Given the description of an element on the screen output the (x, y) to click on. 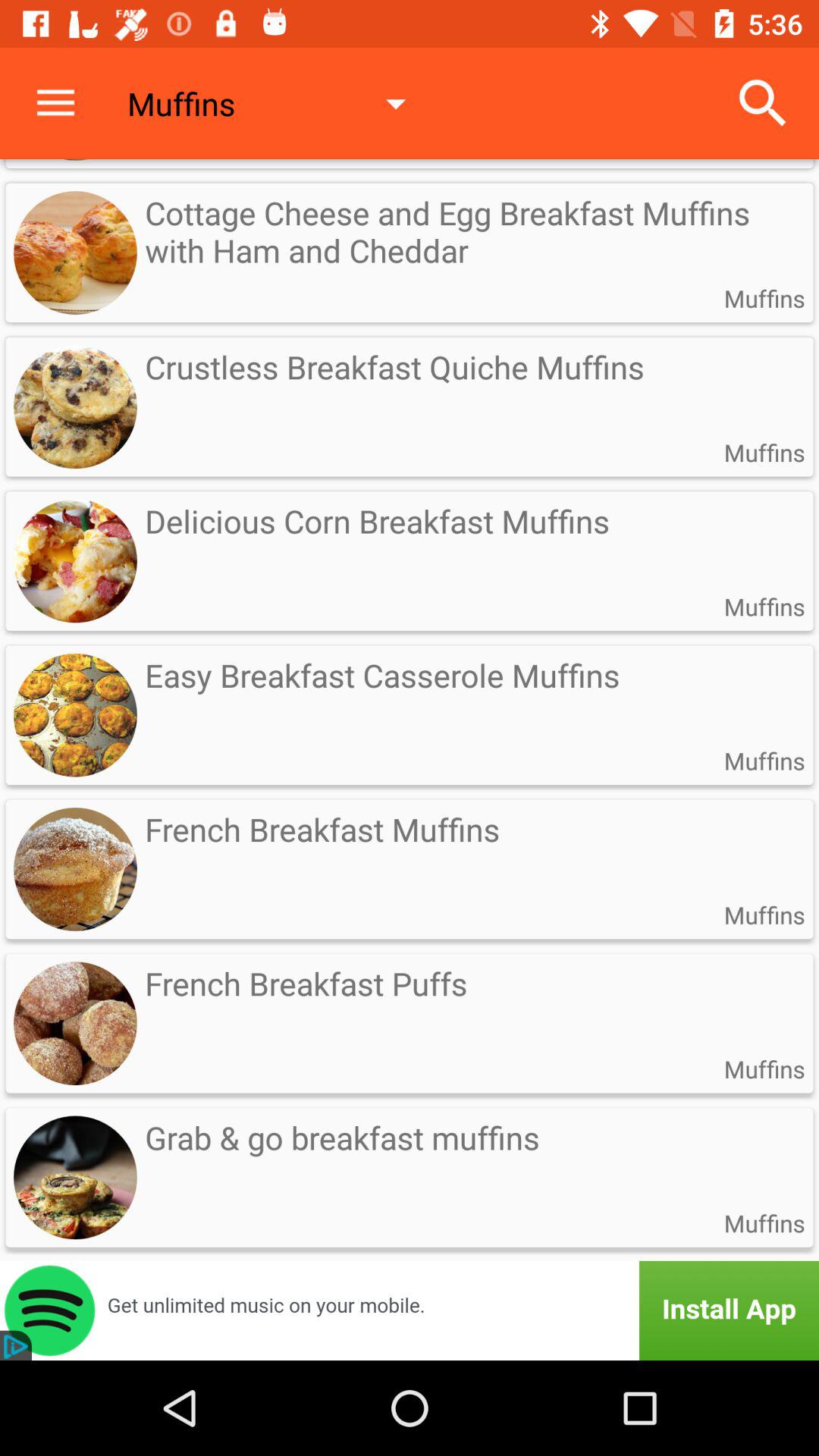
app installation (409, 1310)
